Given the description of an element on the screen output the (x, y) to click on. 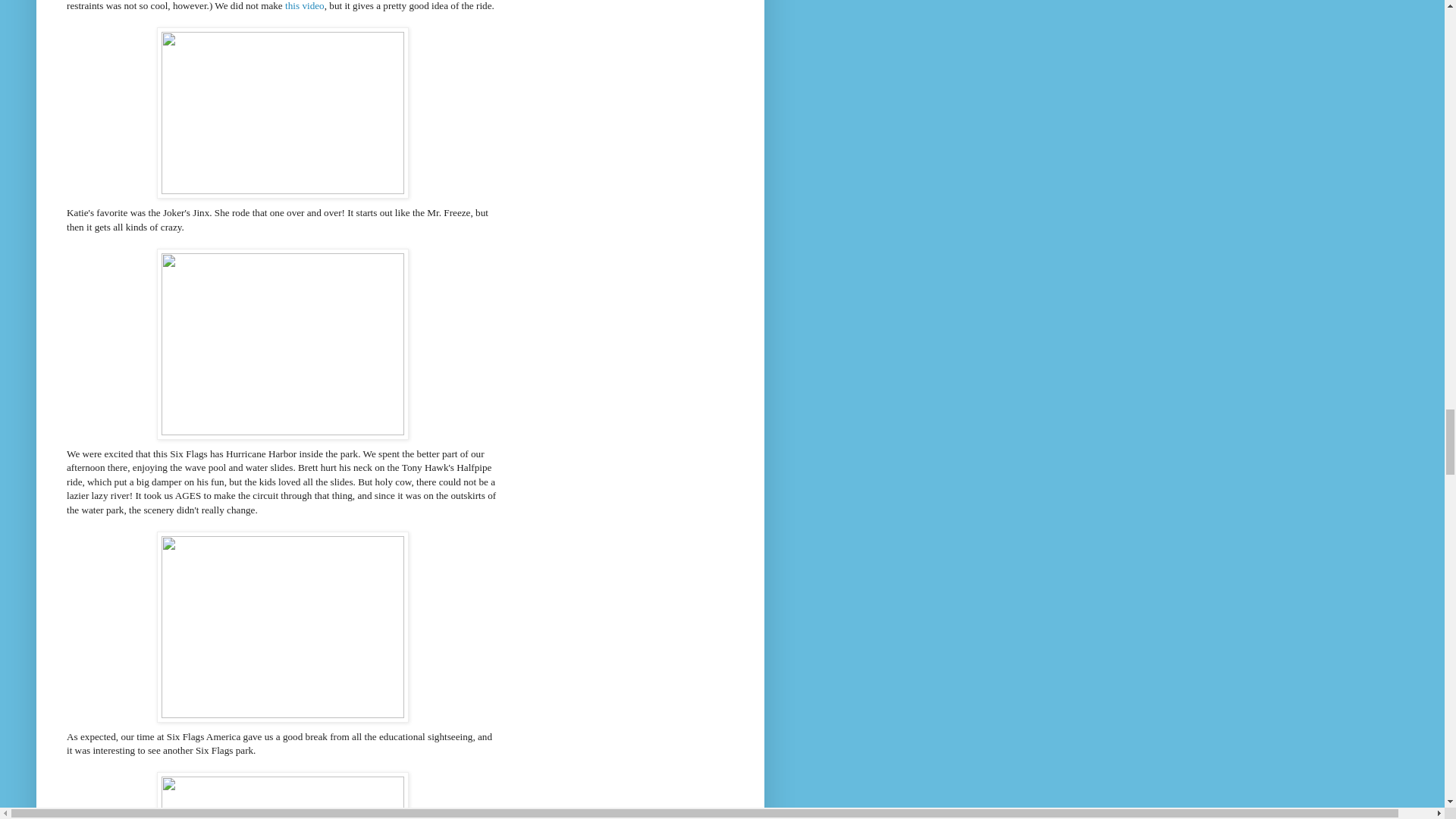
this video (304, 5)
